Given the description of an element on the screen output the (x, y) to click on. 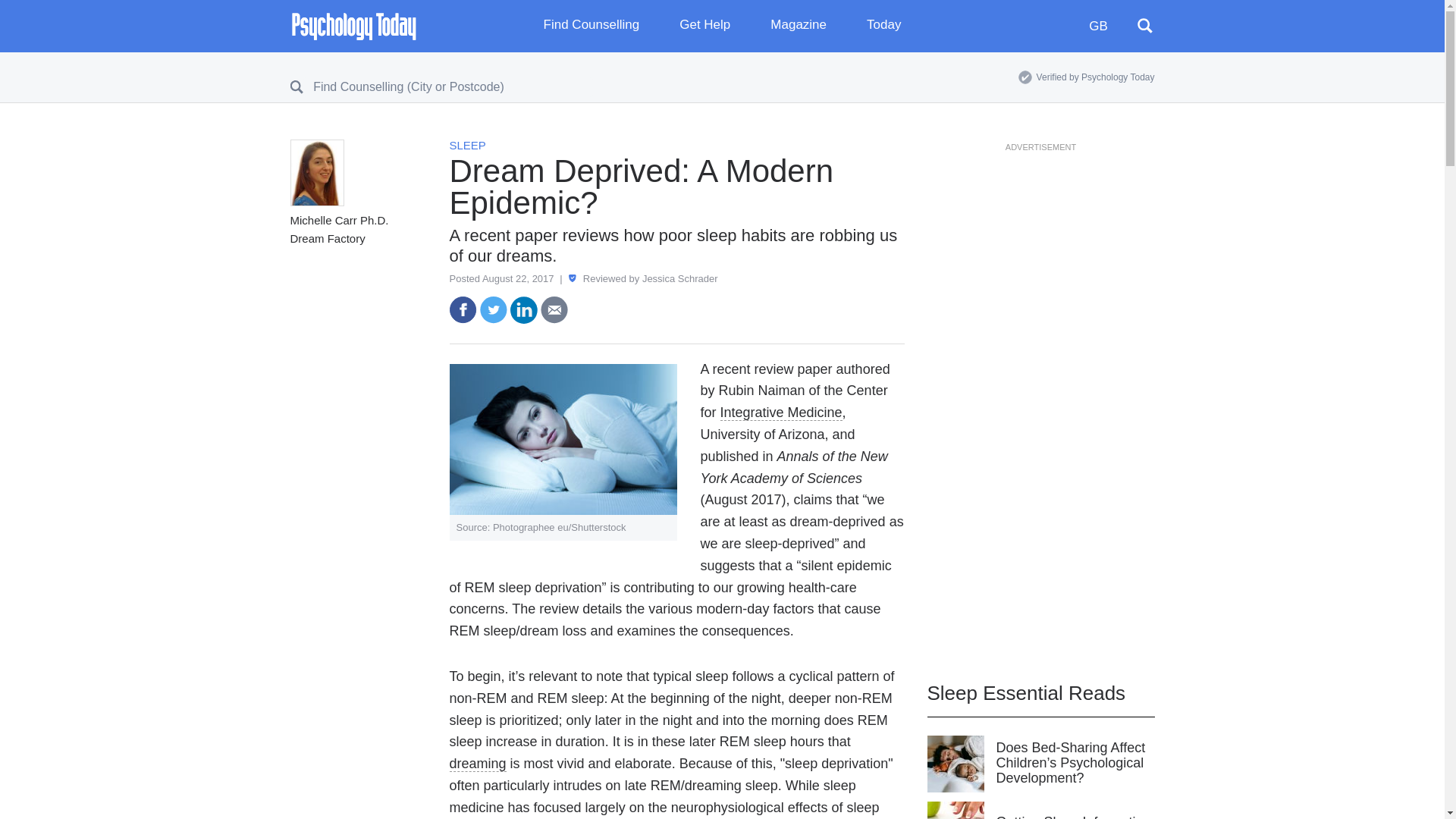
Psychology Today (352, 25)
Get Help (715, 25)
Find Counselling (602, 25)
advertisement (1040, 374)
